Given the description of an element on the screen output the (x, y) to click on. 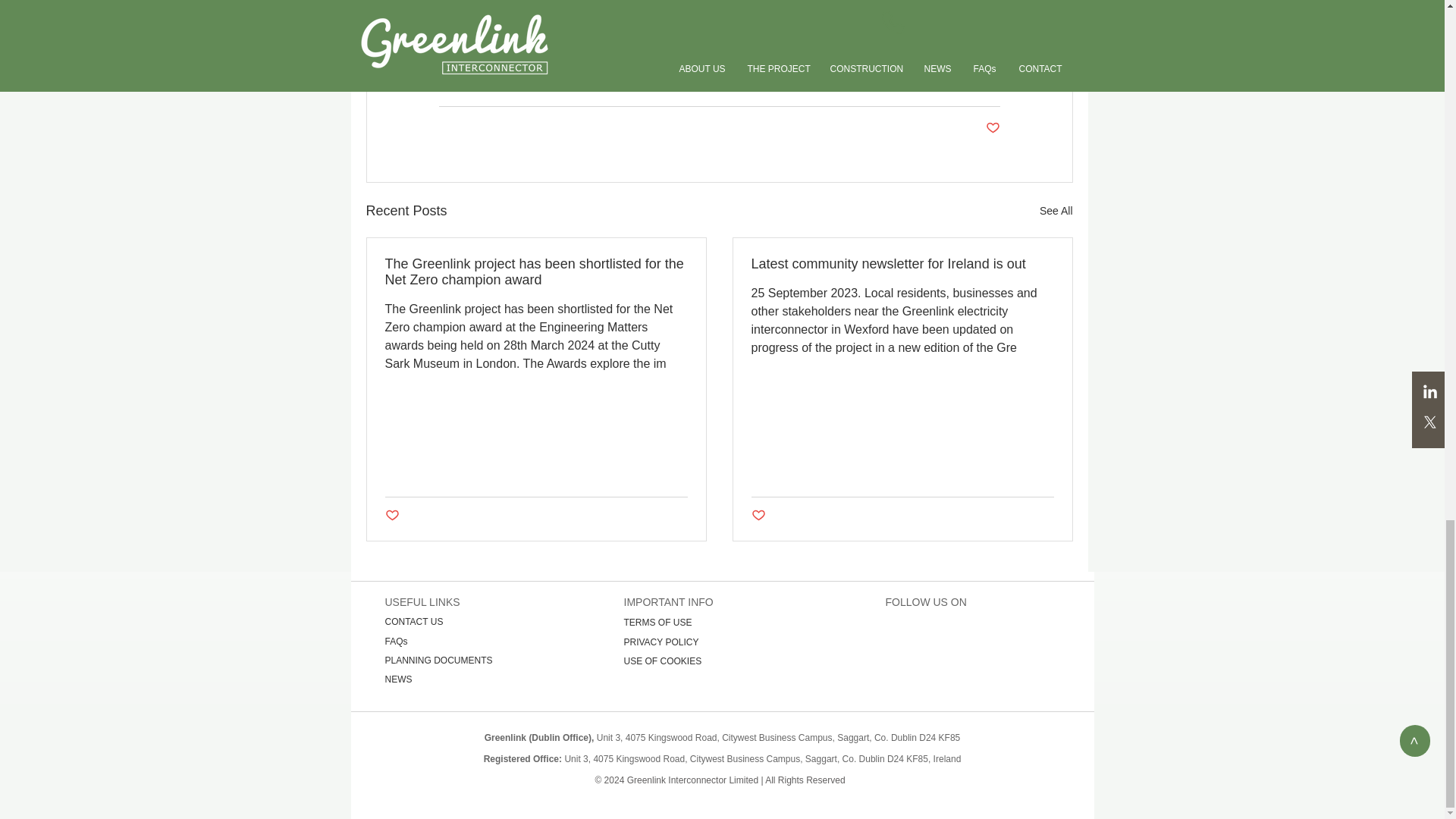
NEWS (398, 679)
Post not marked as liked (391, 515)
CONTACT US (414, 621)
Latest community newsletter for Ireland is out (901, 263)
PLANNING DOCUMENTS (439, 660)
Post not marked as liked (758, 515)
TERMS OF USE (657, 622)
Post not marked as liked (992, 128)
See All (1056, 210)
